Given the description of an element on the screen output the (x, y) to click on. 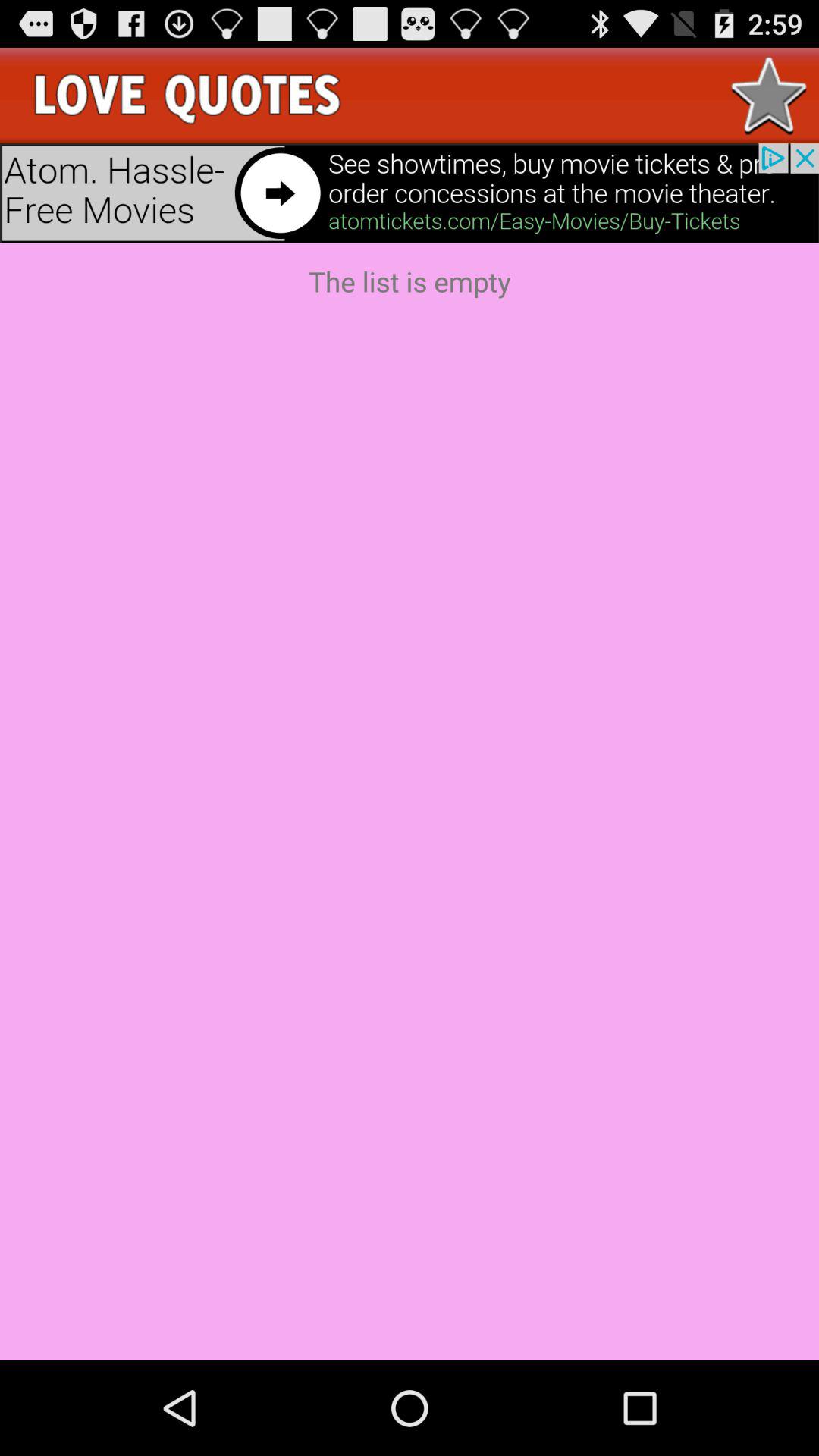
view advertisement (409, 192)
